Given the description of an element on the screen output the (x, y) to click on. 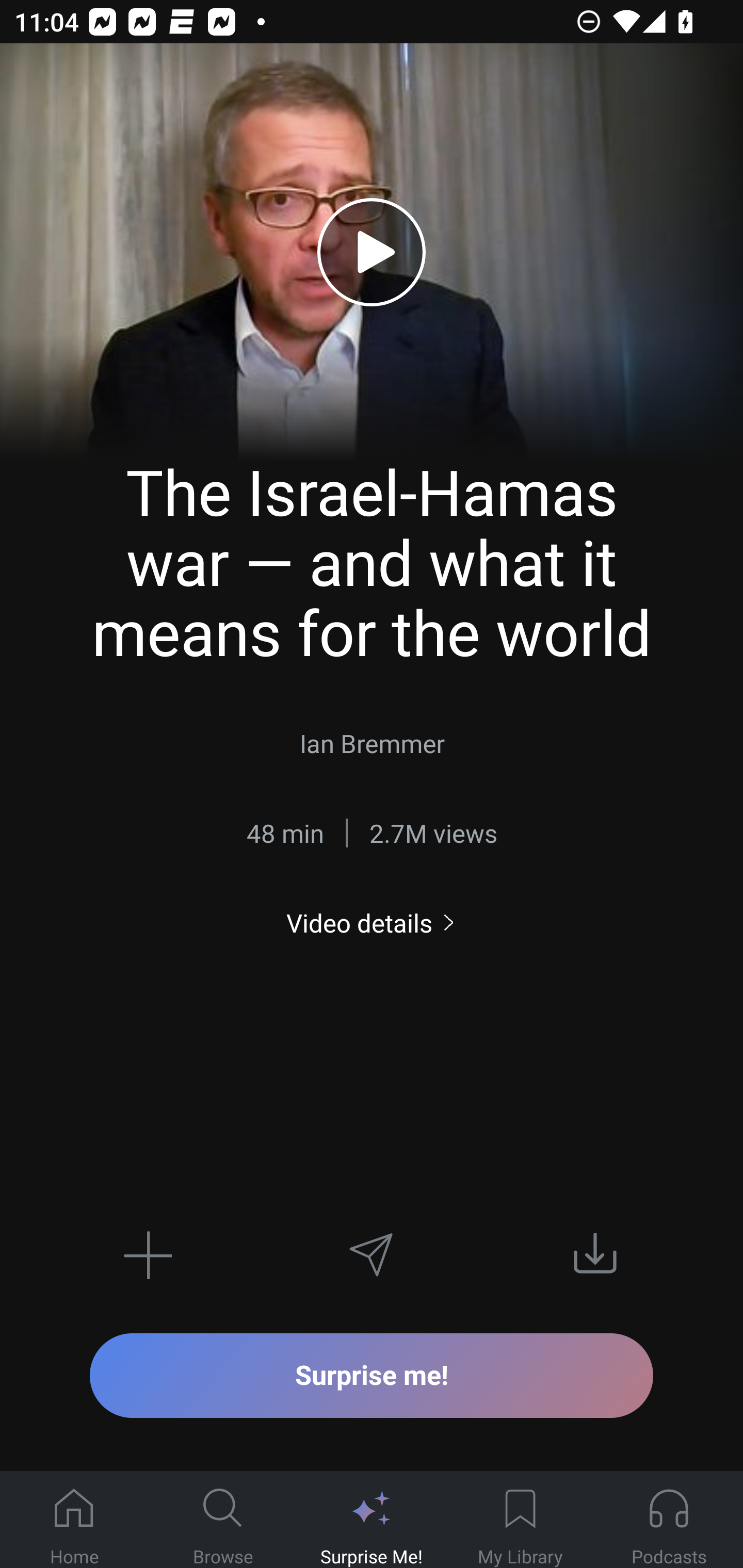
Video details (371, 922)
Surprise me! (371, 1374)
Home (74, 1520)
Browse (222, 1520)
Surprise Me! (371, 1520)
My Library (519, 1520)
Podcasts (668, 1520)
